Given the description of an element on the screen output the (x, y) to click on. 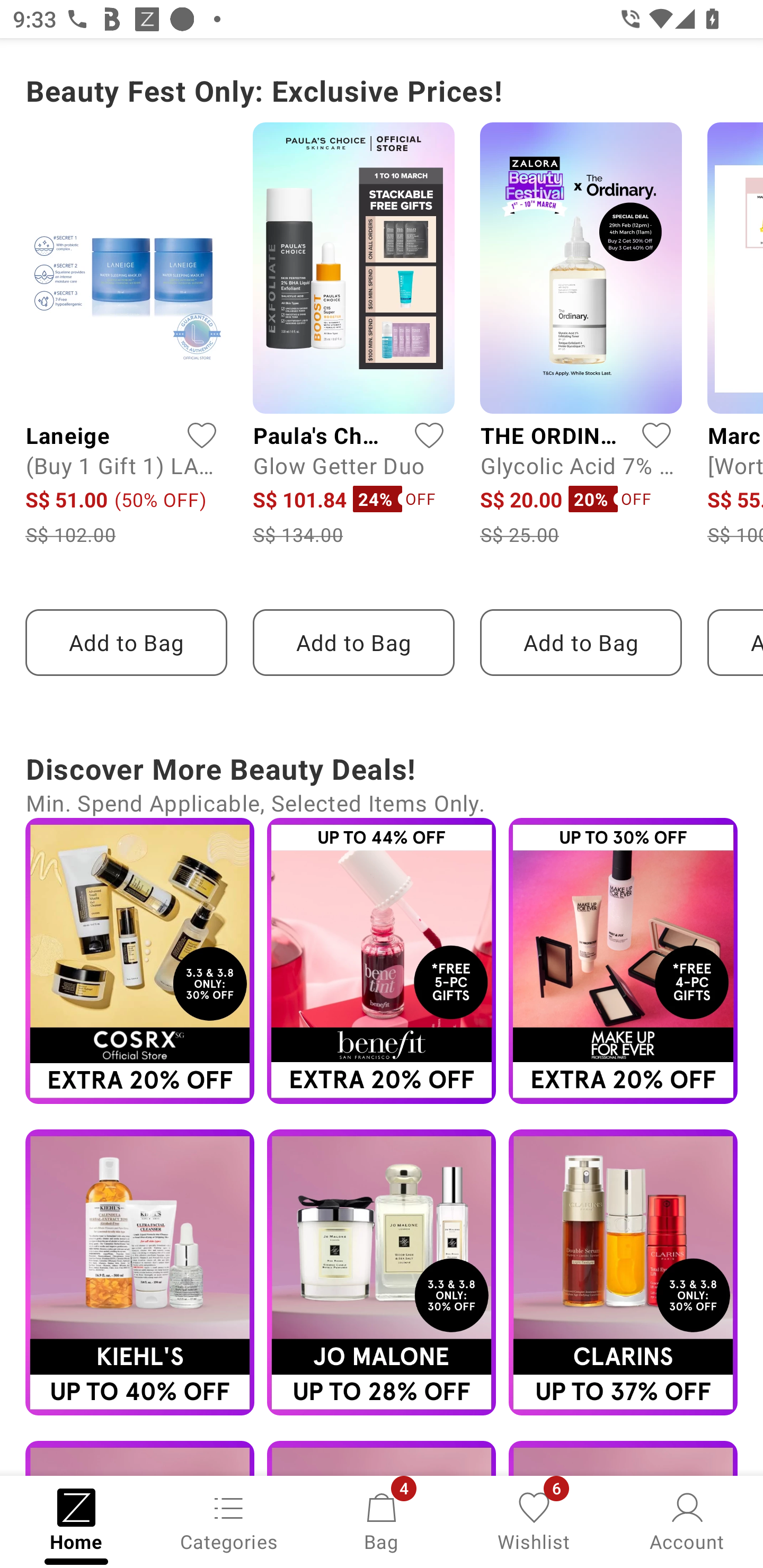
Add to Bag (126, 642)
Add to Bag (353, 642)
Add to Bag (580, 642)
Campaign banner (139, 960)
Campaign banner (381, 960)
Campaign banner (622, 960)
Campaign banner (139, 1271)
Campaign banner (381, 1271)
Campaign banner (622, 1271)
Categories (228, 1519)
Bag, 4 new notifications Bag (381, 1519)
Wishlist, 6 new notifications Wishlist (533, 1519)
Account (686, 1519)
